Given the description of an element on the screen output the (x, y) to click on. 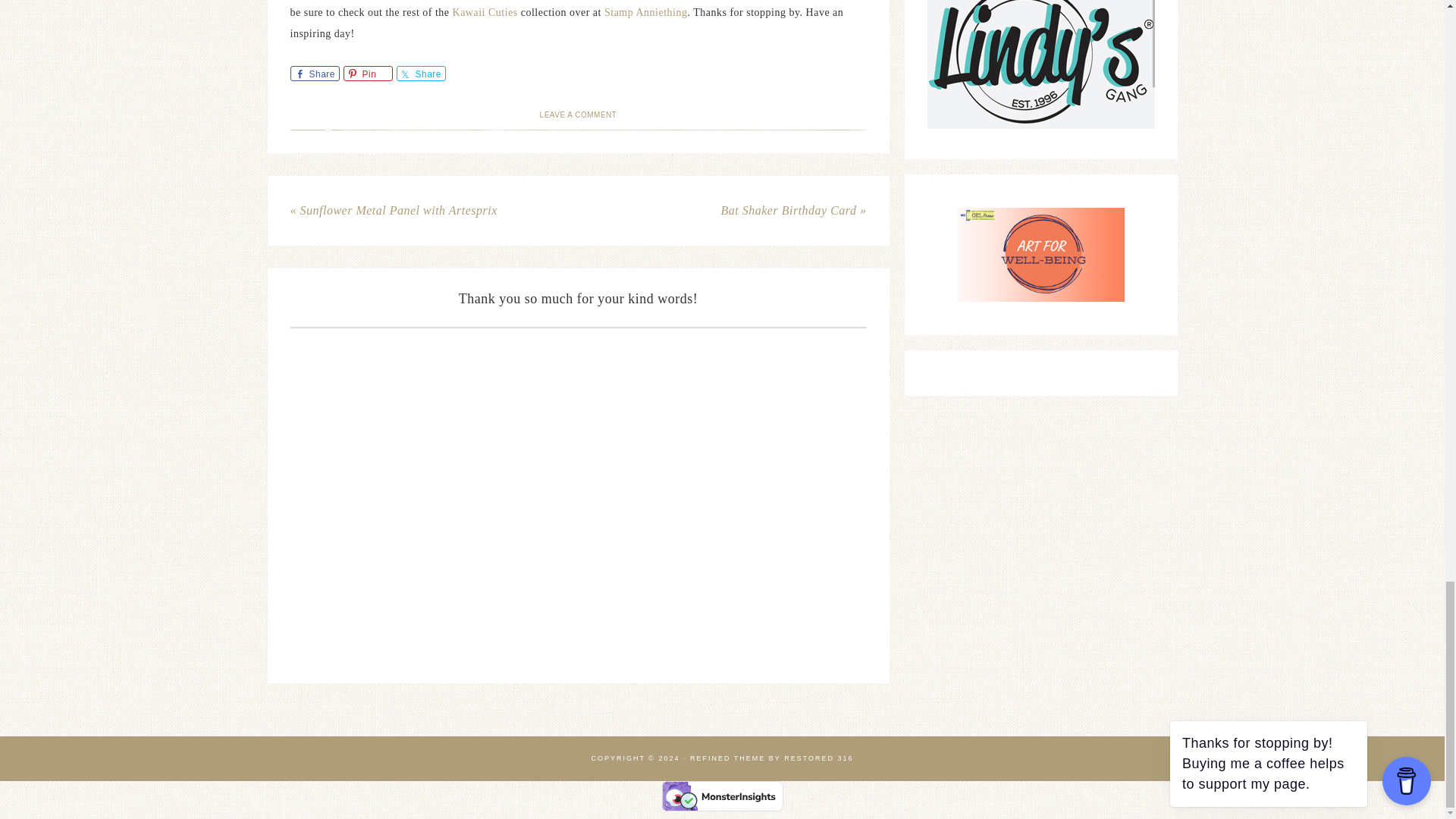
Share (314, 73)
Verified by MonsterInsights (722, 796)
Kawaii Cuties (485, 12)
Share (420, 73)
RESTORED 316 (818, 758)
Stamp Anniething (645, 12)
Pin (366, 73)
LEAVE A COMMENT (578, 114)
REFINED THEME (727, 758)
